Given the description of an element on the screen output the (x, y) to click on. 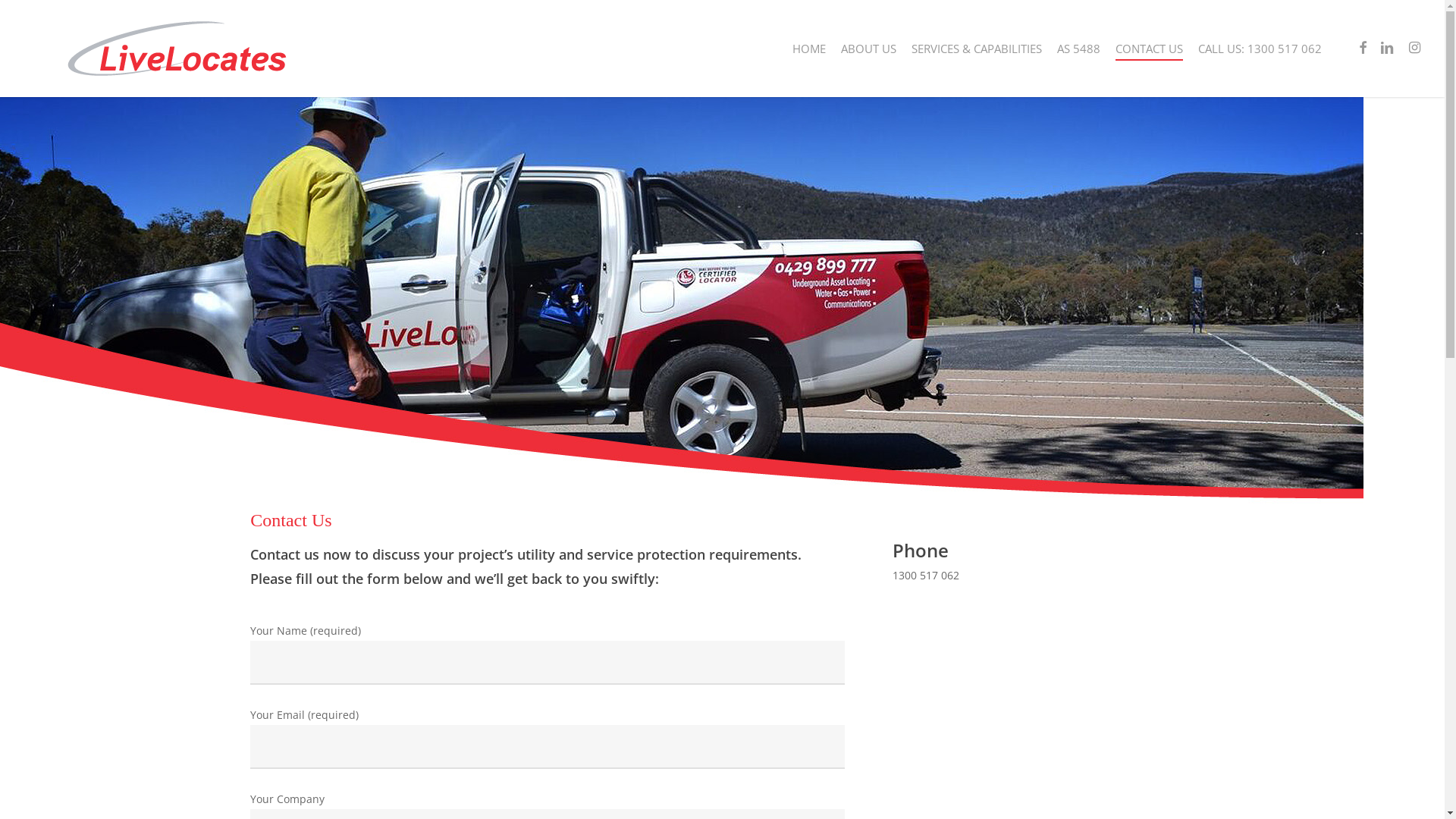
CALL US: 1300 517 062 Element type: text (1259, 47)
AS 5488 Element type: text (1078, 47)
ABOUT US Element type: text (868, 47)
SERVICES & CAPABILITIES Element type: text (976, 47)
CONTACT US Element type: text (1149, 47)
facebook Element type: text (1362, 48)
HOME Element type: text (808, 47)
linkedin Element type: text (1386, 48)
instagram Element type: text (1413, 48)
